Given the description of an element on the screen output the (x, y) to click on. 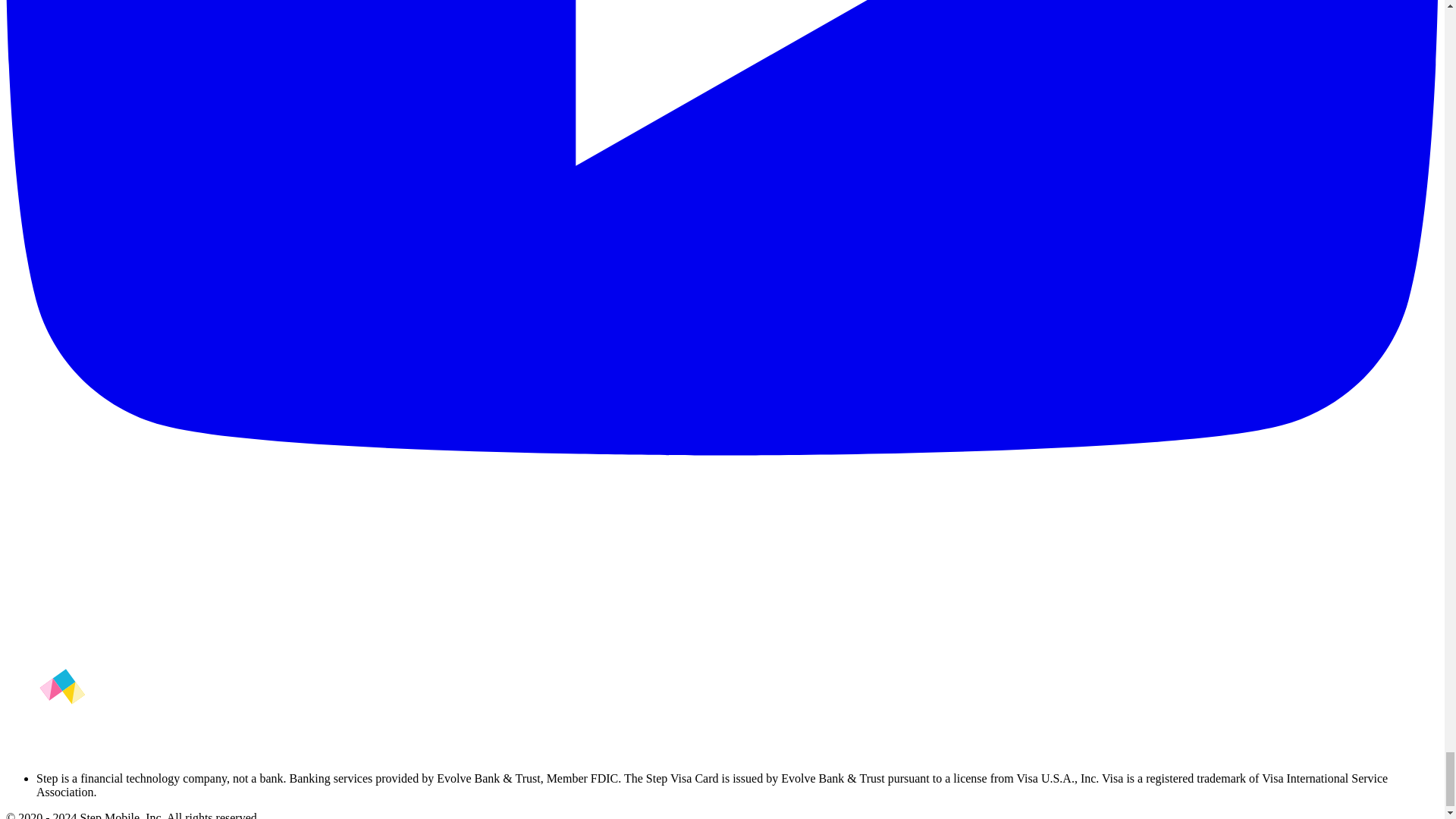
Step logoStep logo with colored accents and white text (62, 712)
